Given the description of an element on the screen output the (x, y) to click on. 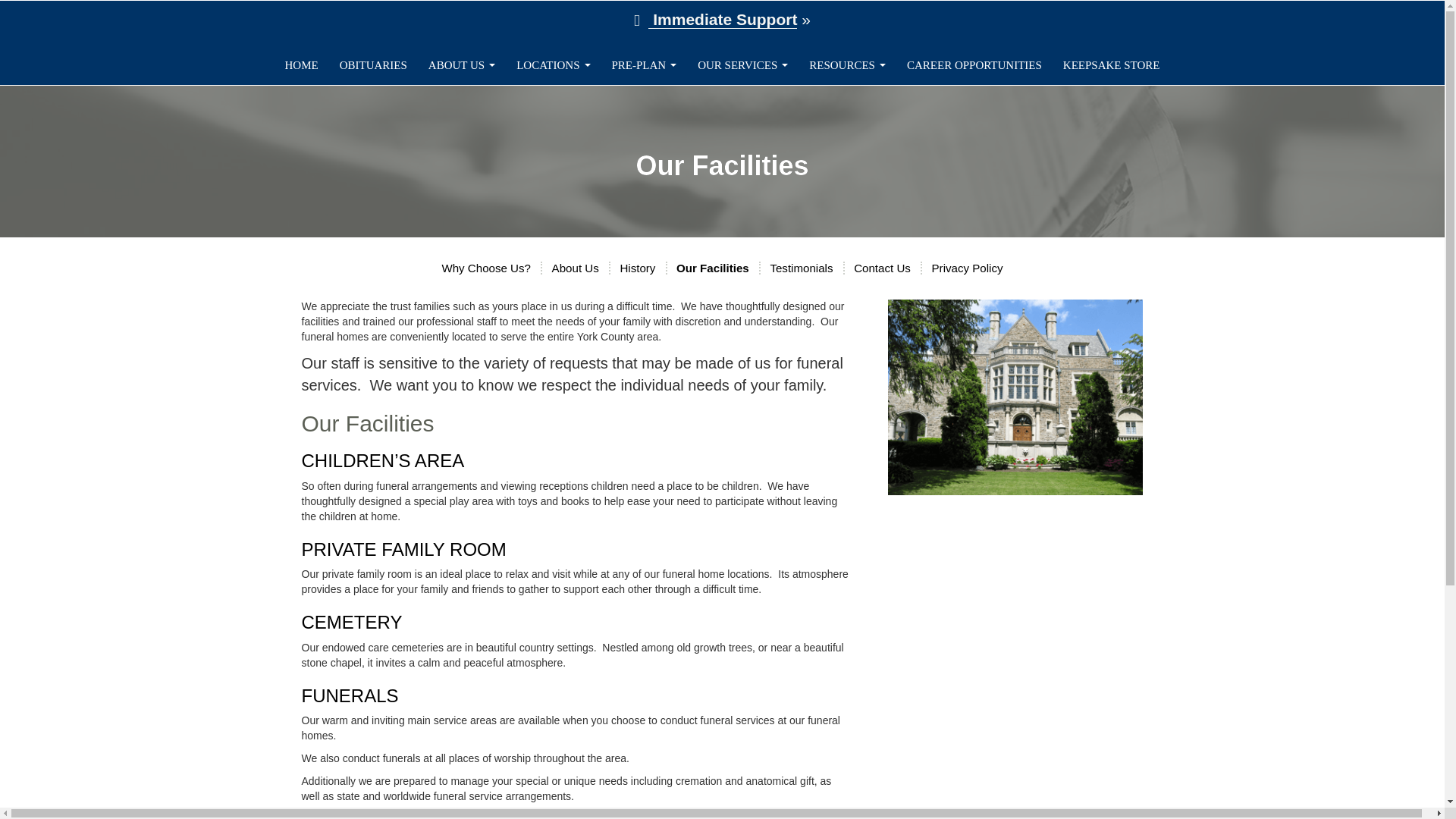
ABOUT US... (461, 65)
OUR SERVICES... (742, 65)
OBITUARIES (373, 65)
HOME (301, 65)
LOCATIONS... (552, 65)
 Immediate Support (721, 19)
RESOURCES... (846, 65)
PRE-PLAN... (643, 65)
